Given the description of an element on the screen output the (x, y) to click on. 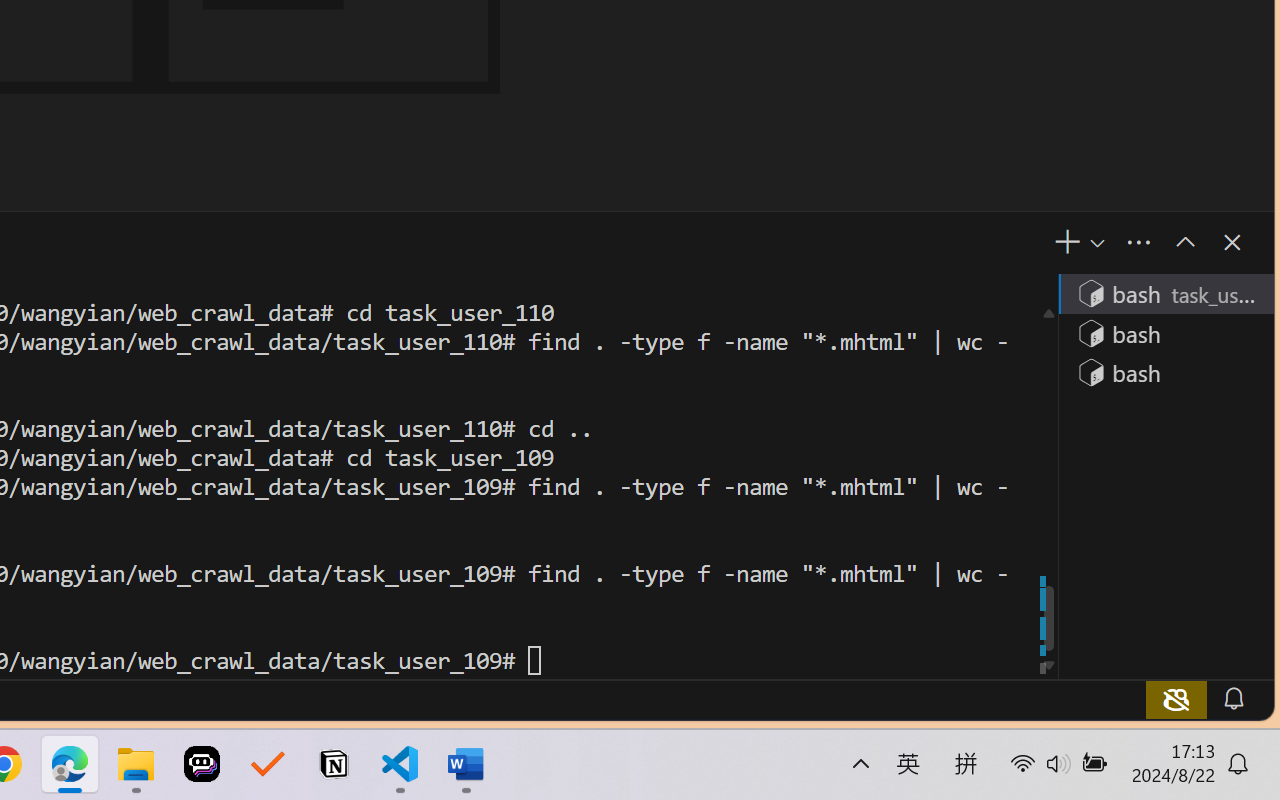
Launch Profile... (1096, 243)
Maximize Panel Size (1183, 242)
Terminal 3 bash (1165, 372)
Class: actions-container (1211, 242)
Close Panel (1230, 242)
